Given the description of an element on the screen output the (x, y) to click on. 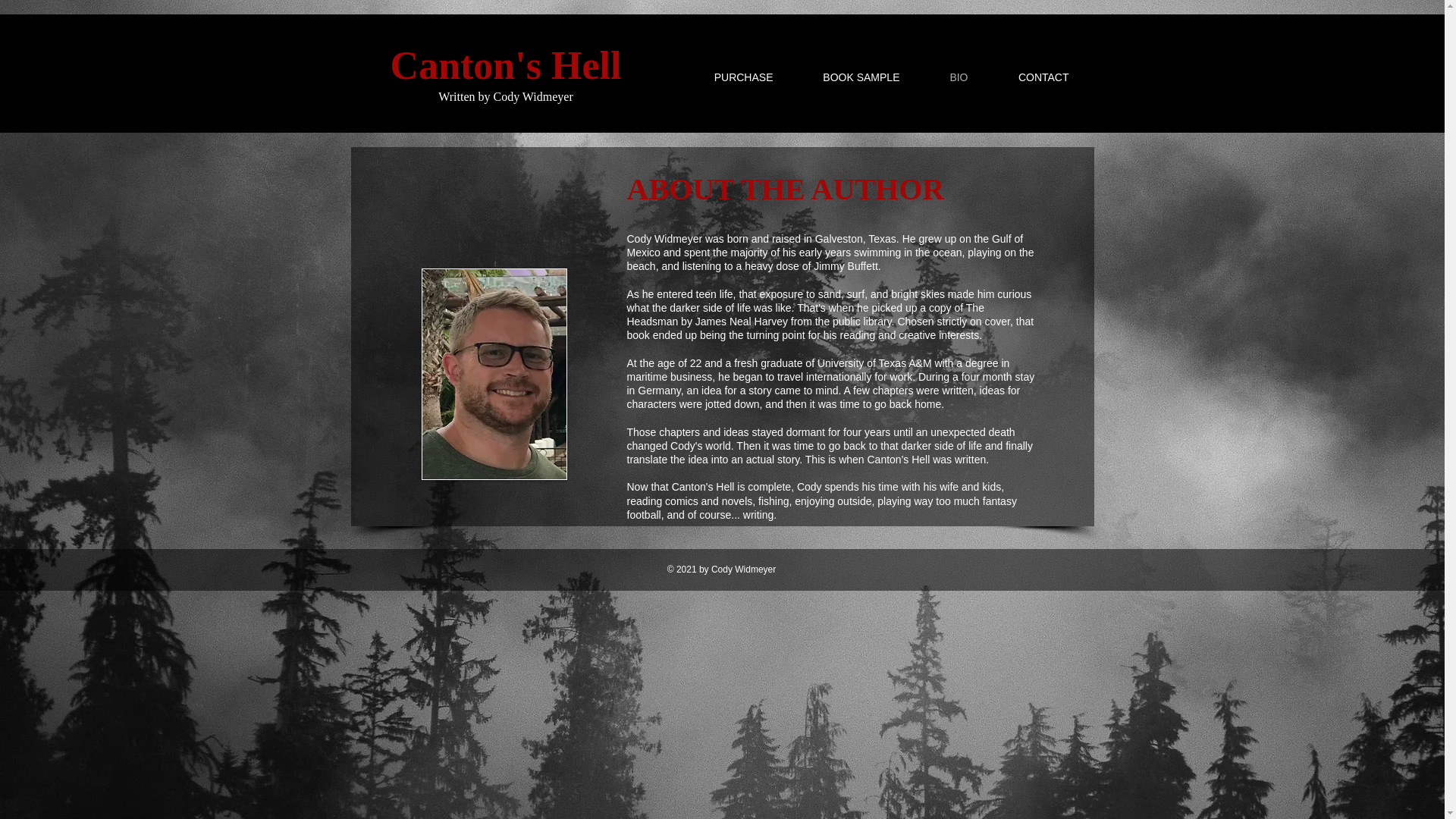
BIO (942, 76)
Written by Cody Widmeyer (505, 96)
CONTACT (1026, 76)
BOOK SAMPLE (843, 76)
PURCHASE (725, 76)
